Given the description of an element on the screen output the (x, y) to click on. 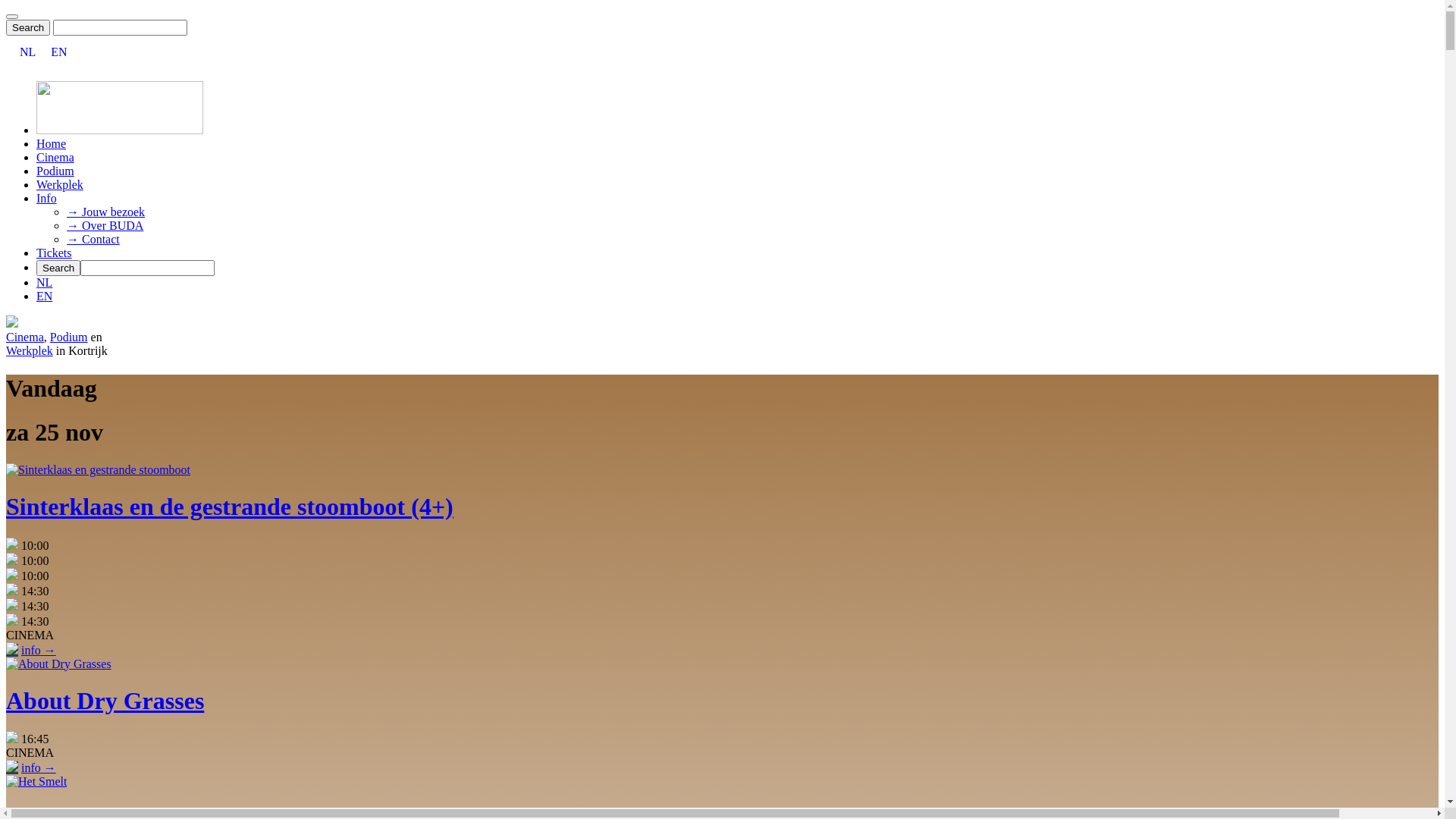
Cinema Element type: text (55, 156)
Search Element type: text (58, 268)
NL Element type: text (27, 51)
Werkplek Element type: text (59, 184)
Sinterklaas en de gestrande stoomboot (4+) Element type: text (722, 506)
Tickets Element type: text (54, 252)
About Dry Grasses Element type: text (722, 701)
Home Element type: text (50, 143)
Cinema Element type: text (24, 336)
Info Element type: text (46, 197)
EN Element type: text (58, 51)
Werkplek Element type: text (29, 350)
NL Element type: text (44, 282)
Podium Element type: text (55, 170)
Podium Element type: text (68, 336)
EN Element type: text (44, 295)
Search Element type: text (28, 27)
